Given the description of an element on the screen output the (x, y) to click on. 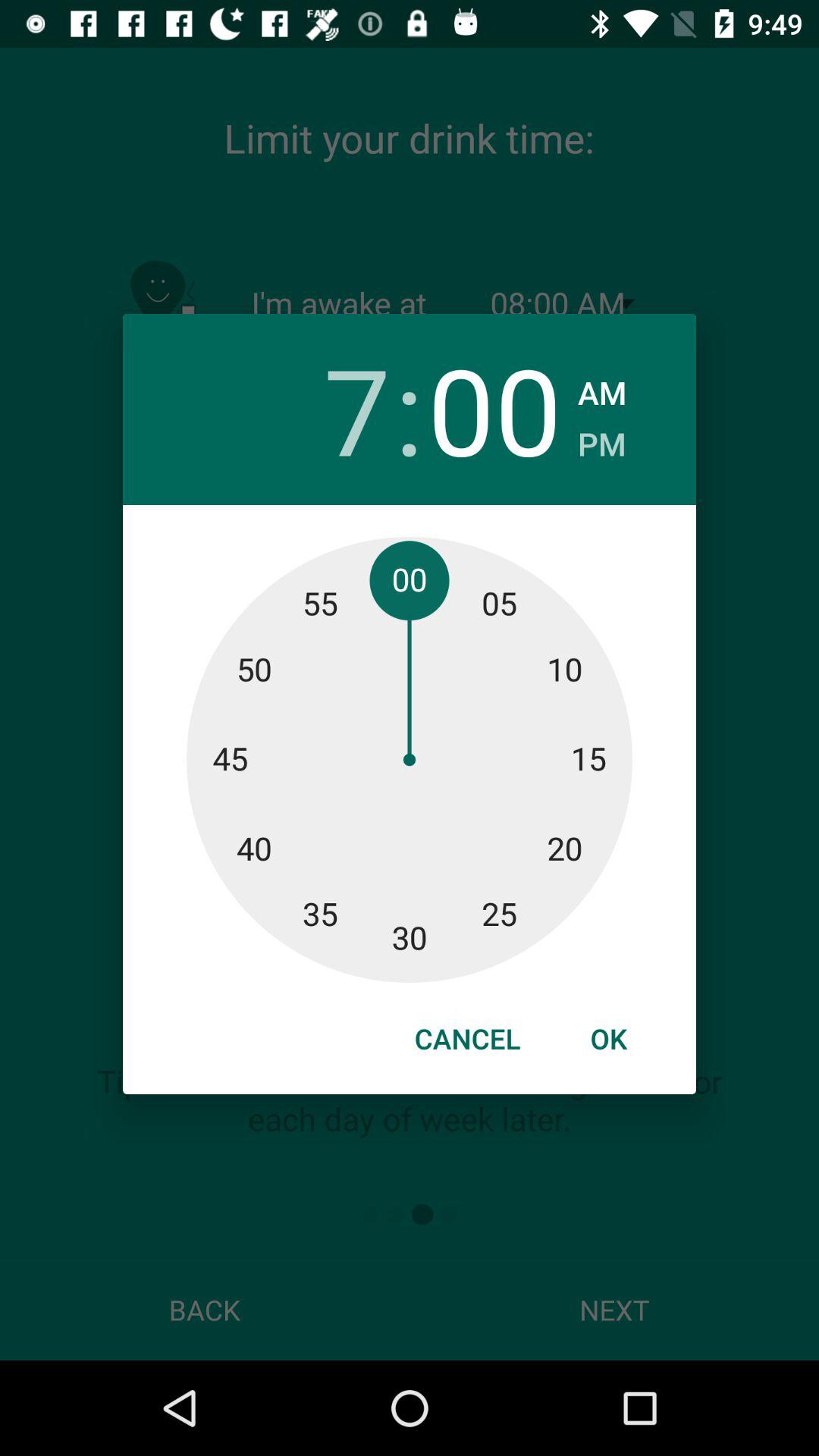
choose the item next to the ok item (467, 1038)
